Given the description of an element on the screen output the (x, y) to click on. 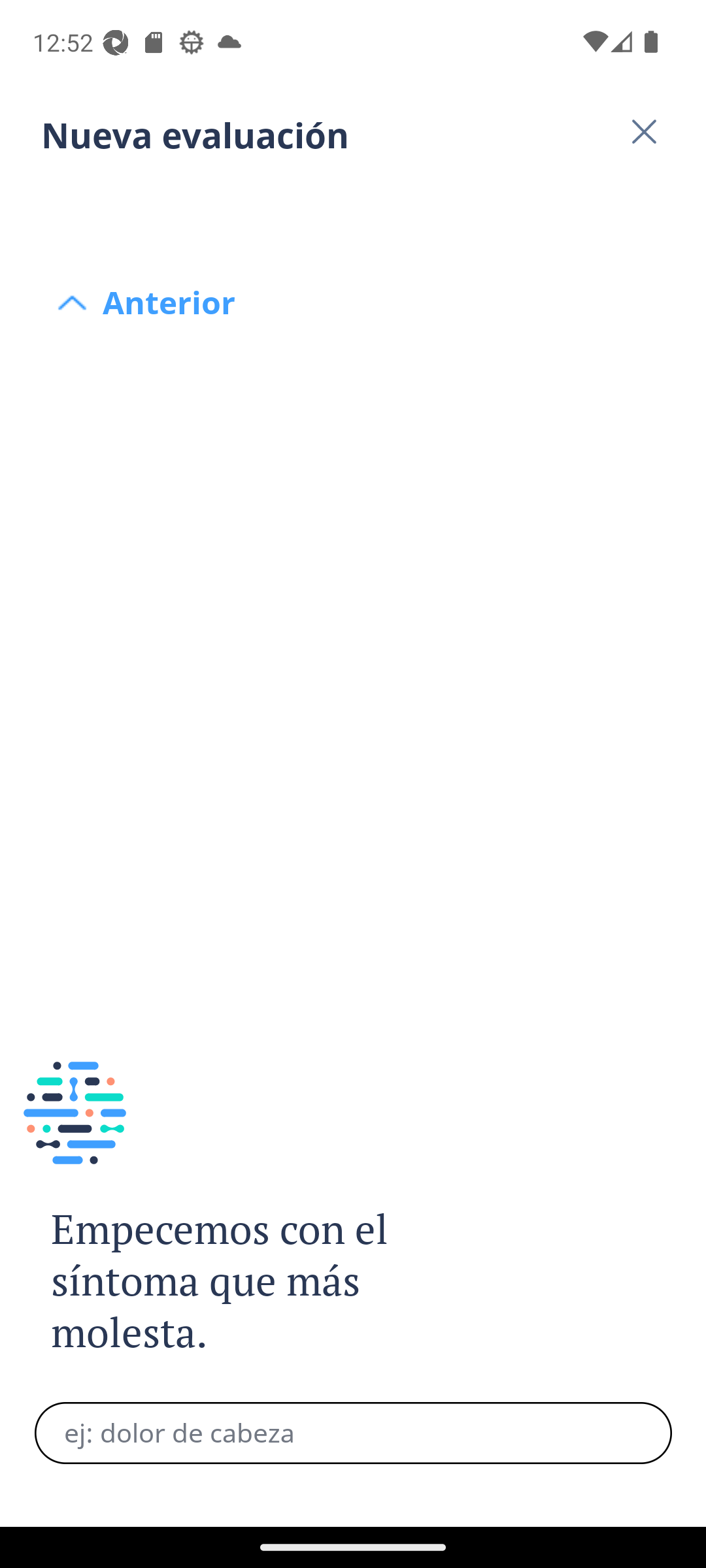
undo Anterior (353, 203)
Empecemos con el síntoma que más molesta. (240, 1281)
ej: dolor de cabeza (353, 1432)
